Given the description of an element on the screen output the (x, y) to click on. 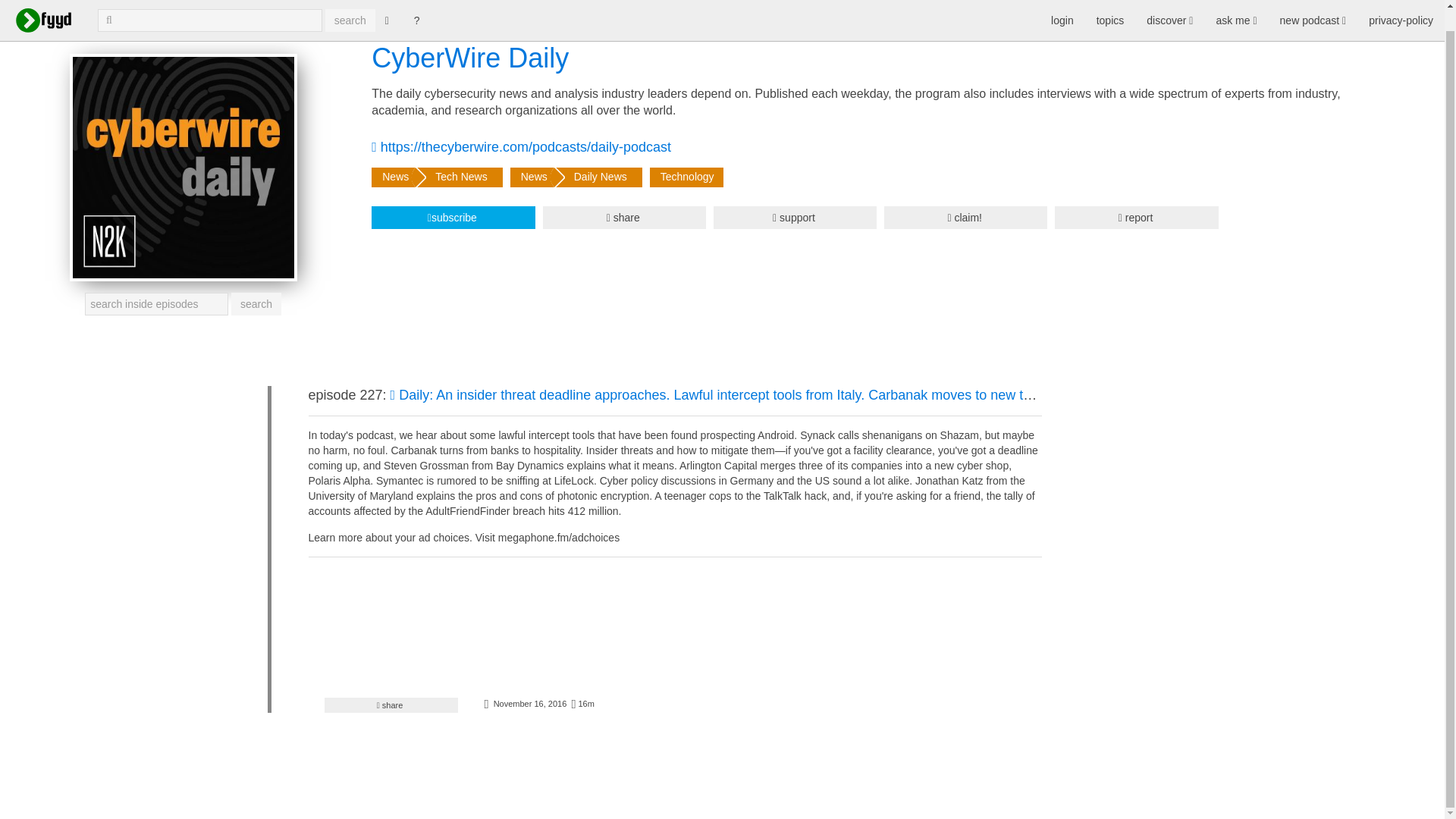
topics (1109, 7)
ask me (1236, 7)
discover (1169, 7)
importiert :29.01.2017 18:20 (529, 703)
login (1061, 7)
? (416, 5)
new podcast (1313, 7)
search (349, 5)
